Given the description of an element on the screen output the (x, y) to click on. 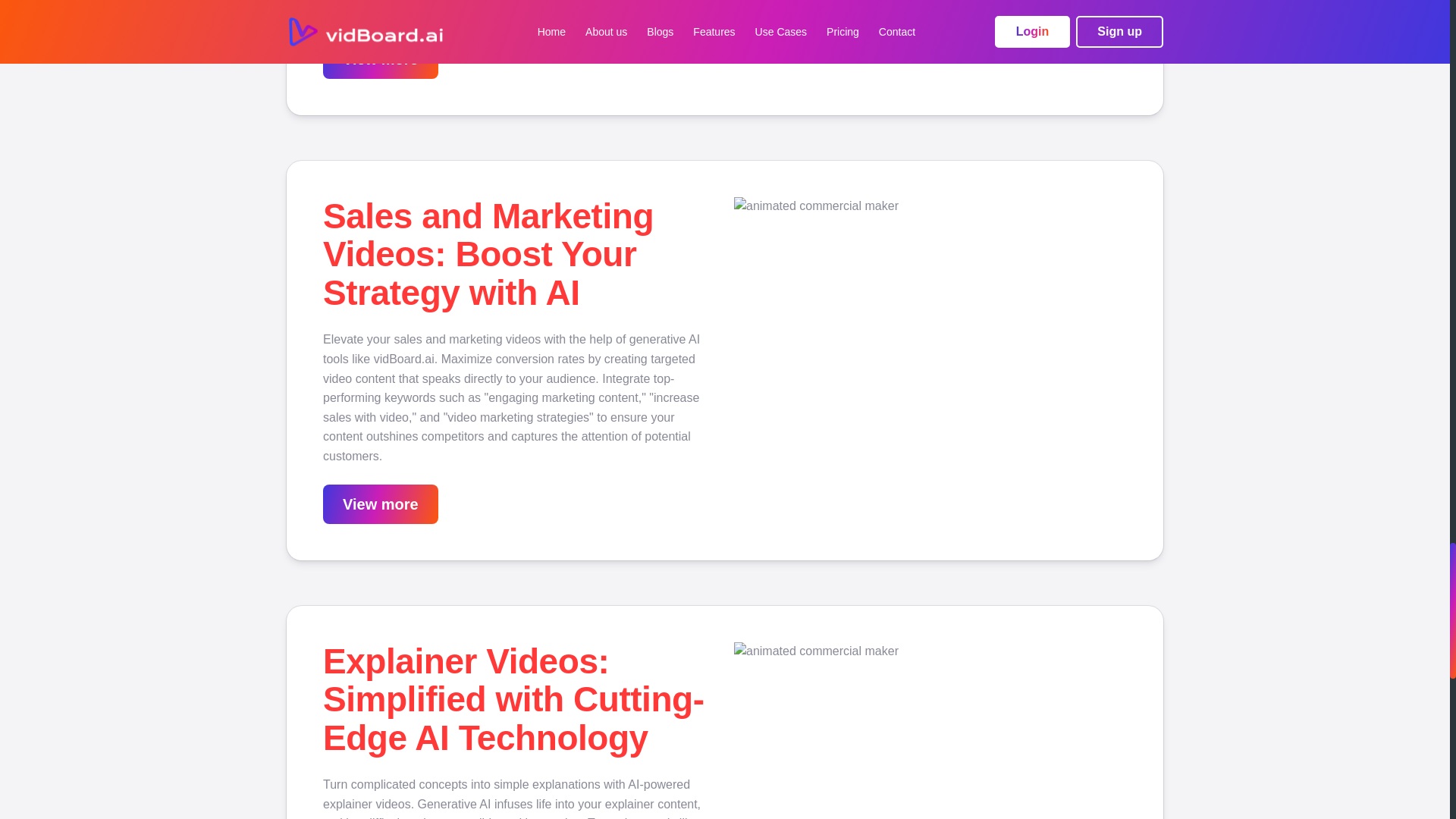
View more (380, 60)
View more (380, 504)
View more (380, 58)
View more (380, 503)
